Given the description of an element on the screen output the (x, y) to click on. 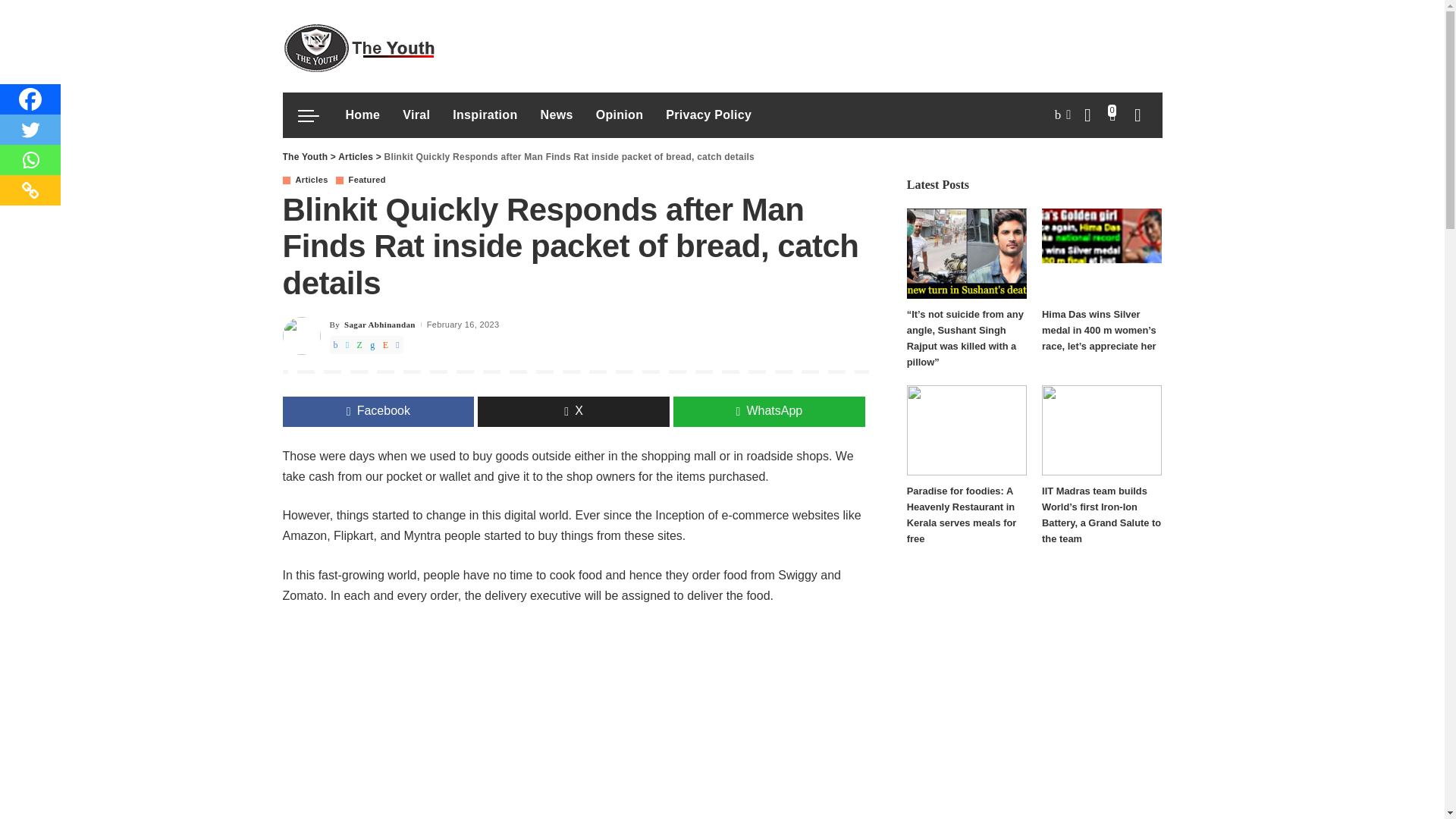
Facebook (30, 99)
The Youth (357, 45)
Go to the Articles Category archives. (354, 156)
Go to The Youth. (304, 156)
Twitter (30, 129)
